Given the description of an element on the screen output the (x, y) to click on. 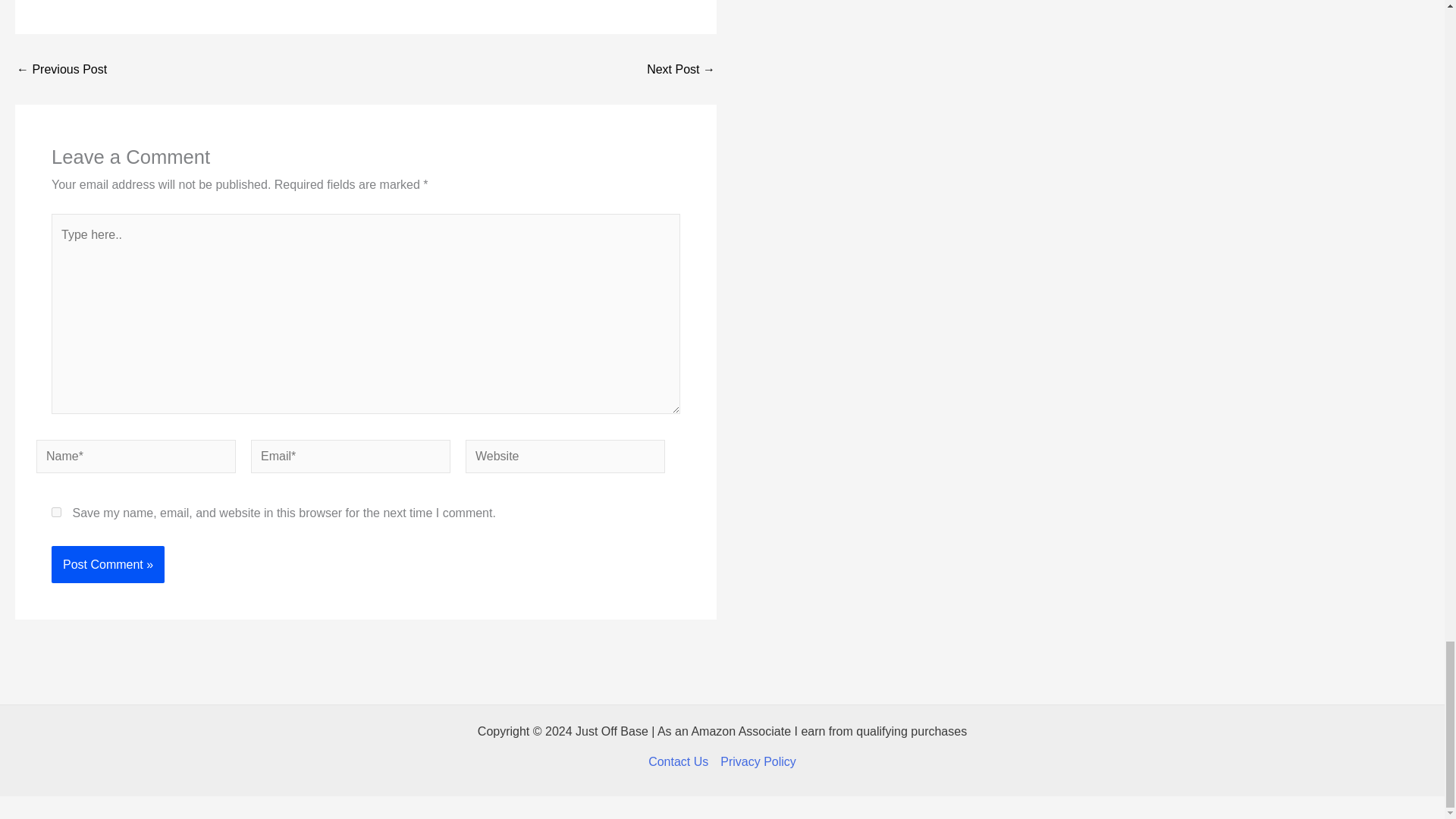
yes (55, 511)
Jashen V16 Cordless Vacuum Cleaner Review (680, 69)
